Given the description of an element on the screen output the (x, y) to click on. 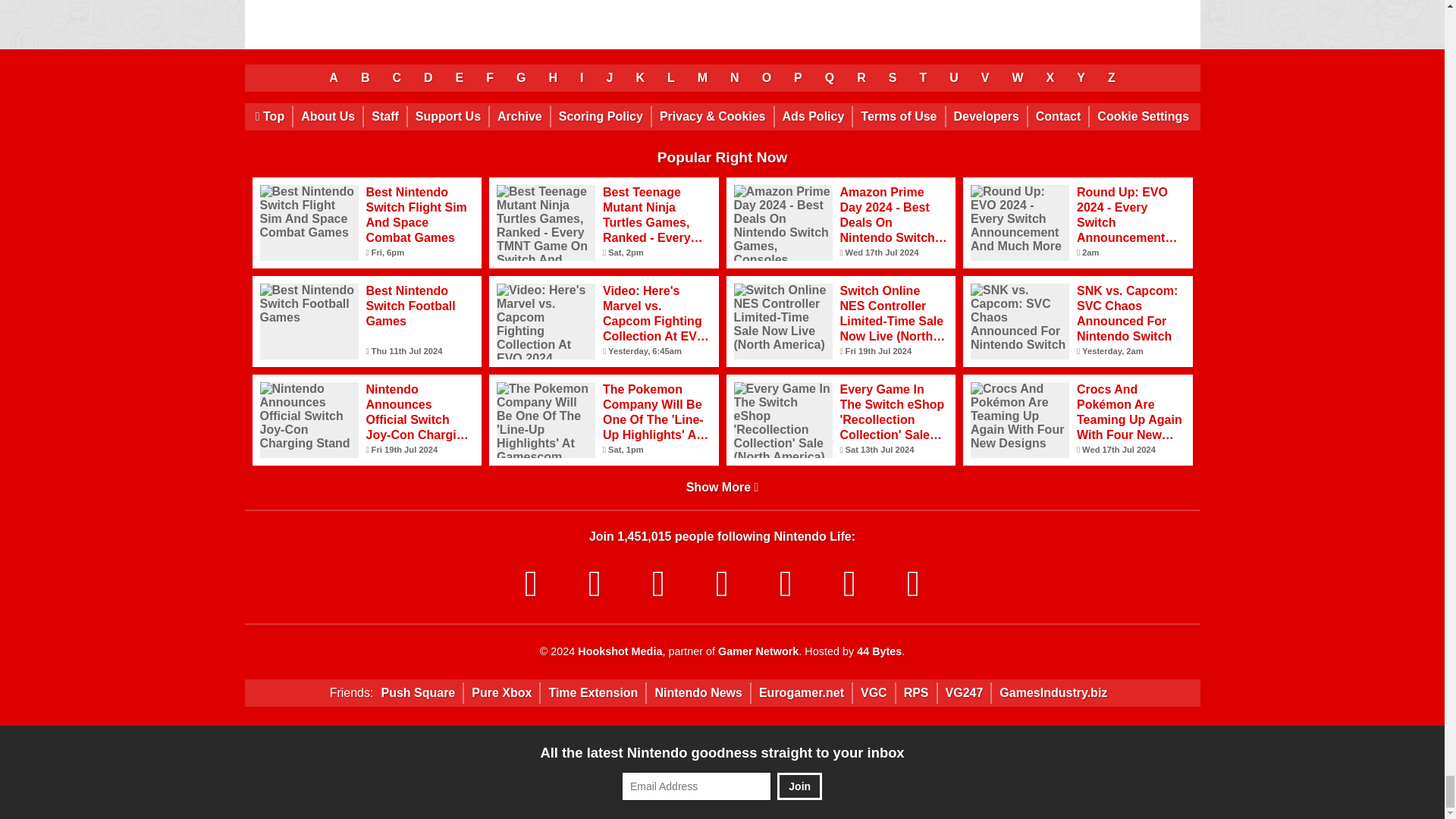
Join (799, 786)
